Given the description of an element on the screen output the (x, y) to click on. 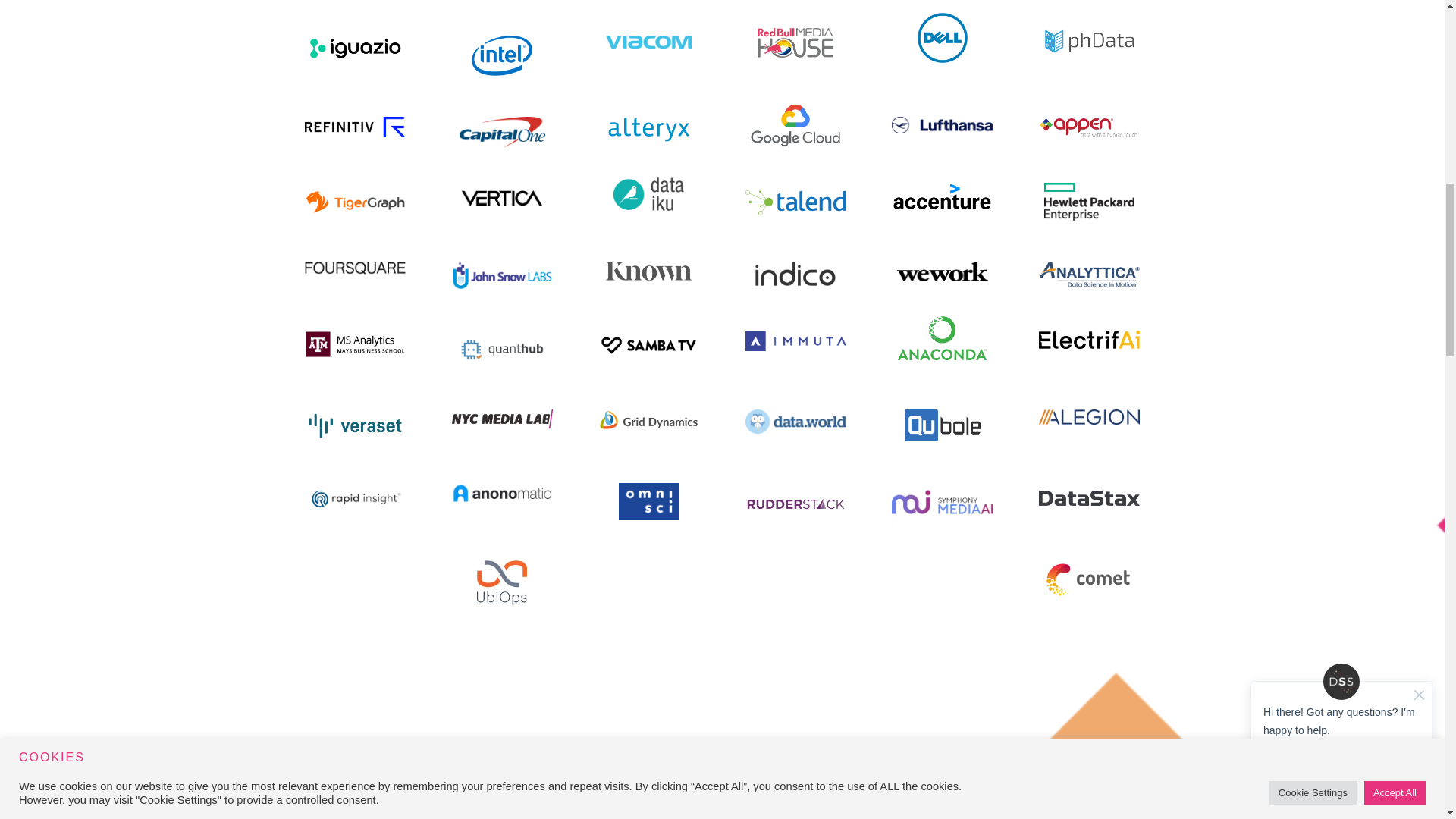
Iguazio logo light png (355, 48)
2000px-intel-logo.svg (501, 56)
